Given the description of an element on the screen output the (x, y) to click on. 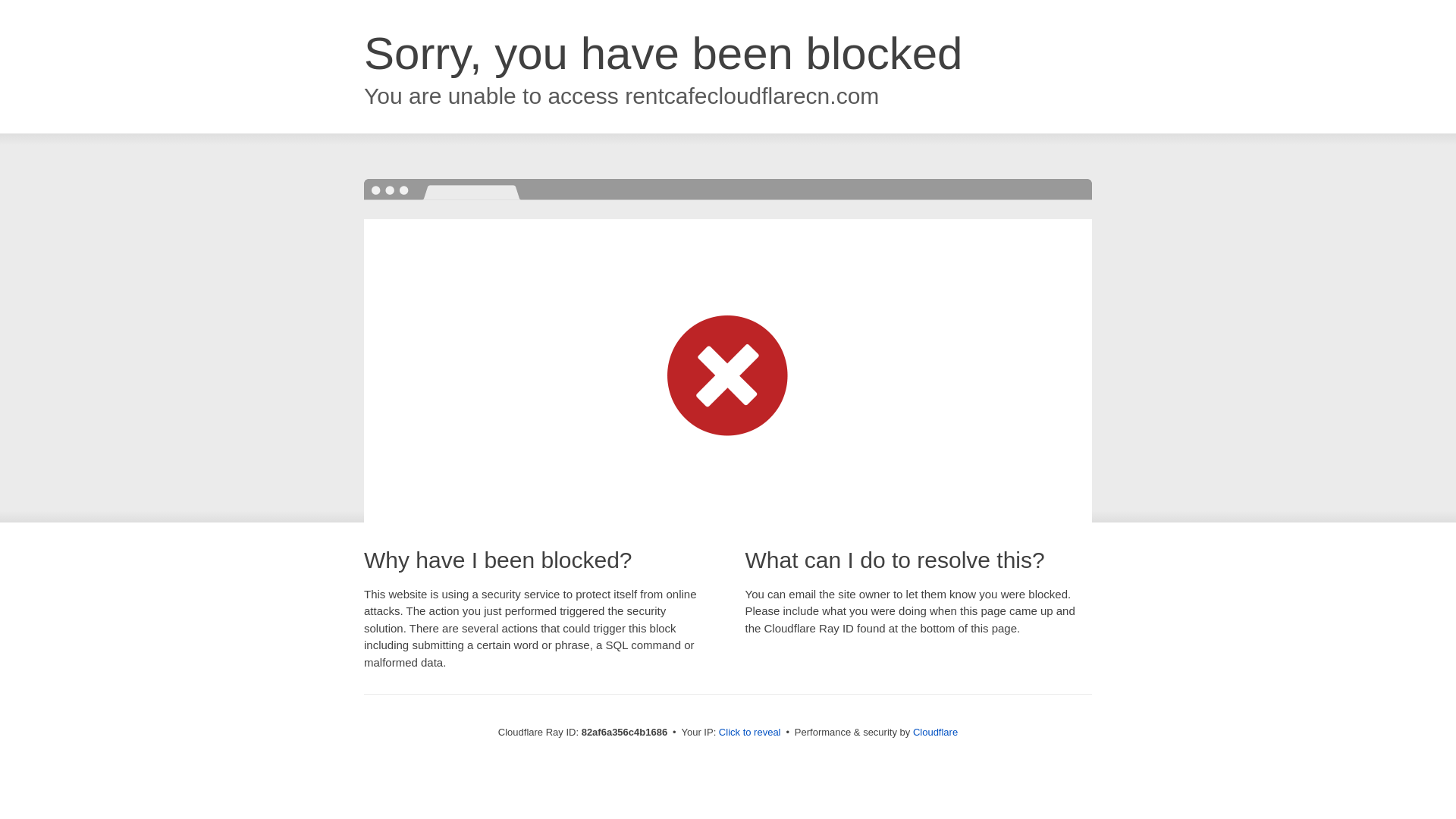
Cloudflare Element type: text (935, 731)
Click to reveal Element type: text (749, 732)
